Given the description of an element on the screen output the (x, y) to click on. 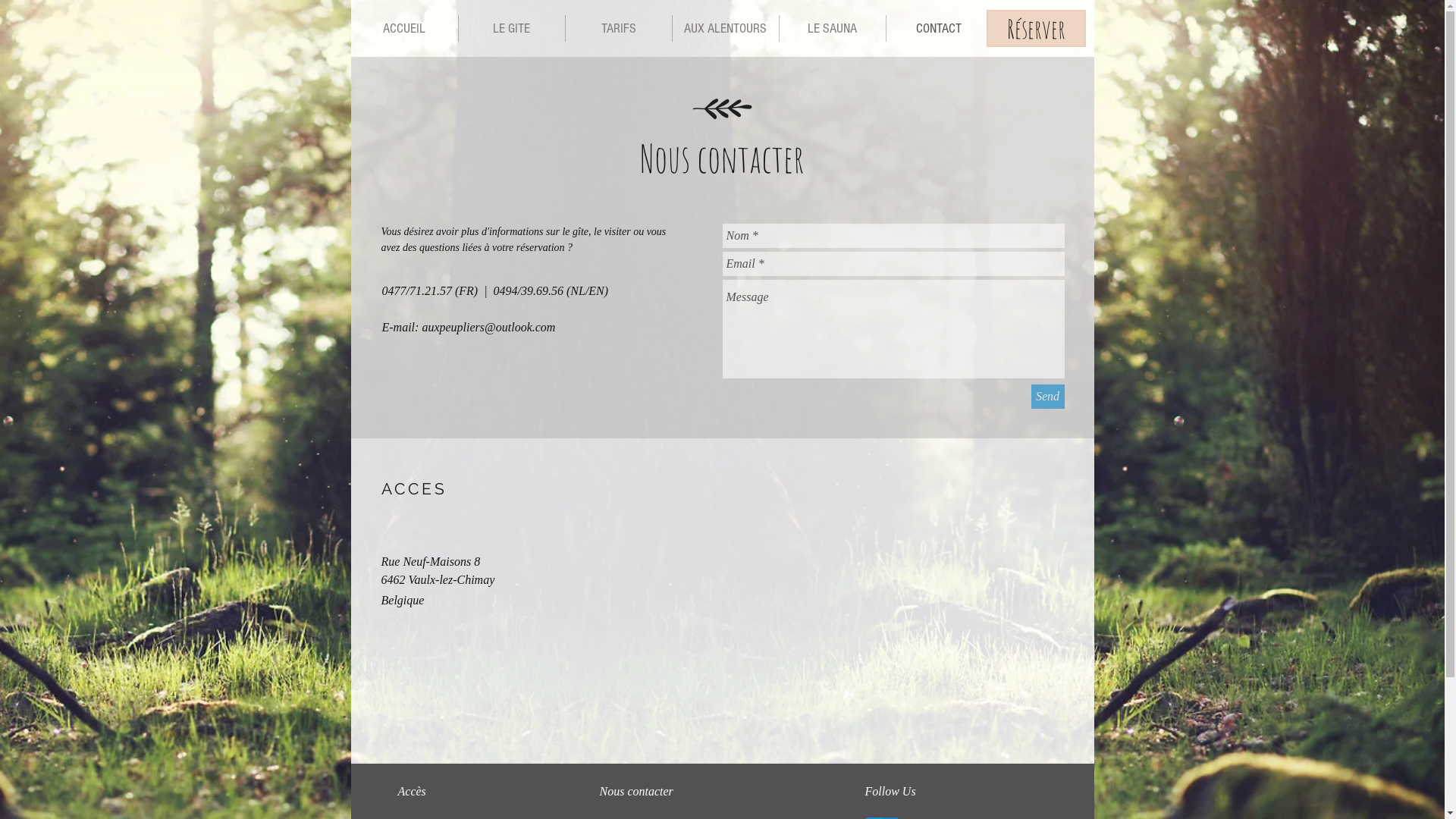
CONTACT Element type: text (938, 28)
TARIFS Element type: text (618, 28)
auxpeupliers@outlook.com Element type: text (488, 326)
LE SAUNA Element type: text (832, 28)
ACCUEIL Element type: text (403, 28)
AUX ALENTOURS Element type: text (724, 28)
Send Element type: text (1047, 396)
Google Maps Element type: hover (892, 596)
LE GITE Element type: text (511, 28)
